Given the description of an element on the screen output the (x, y) to click on. 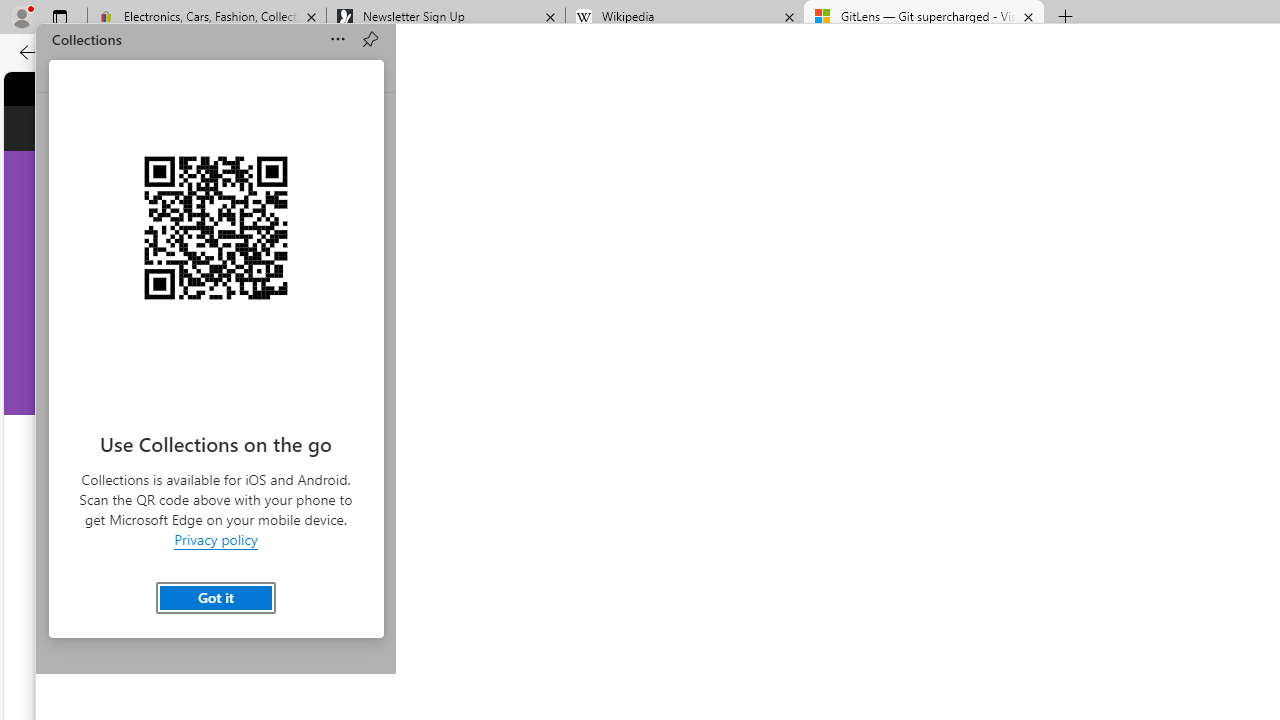
Start new collection (215, 592)
Pin Collections (369, 39)
Sort (337, 39)
